Given the description of an element on the screen output the (x, y) to click on. 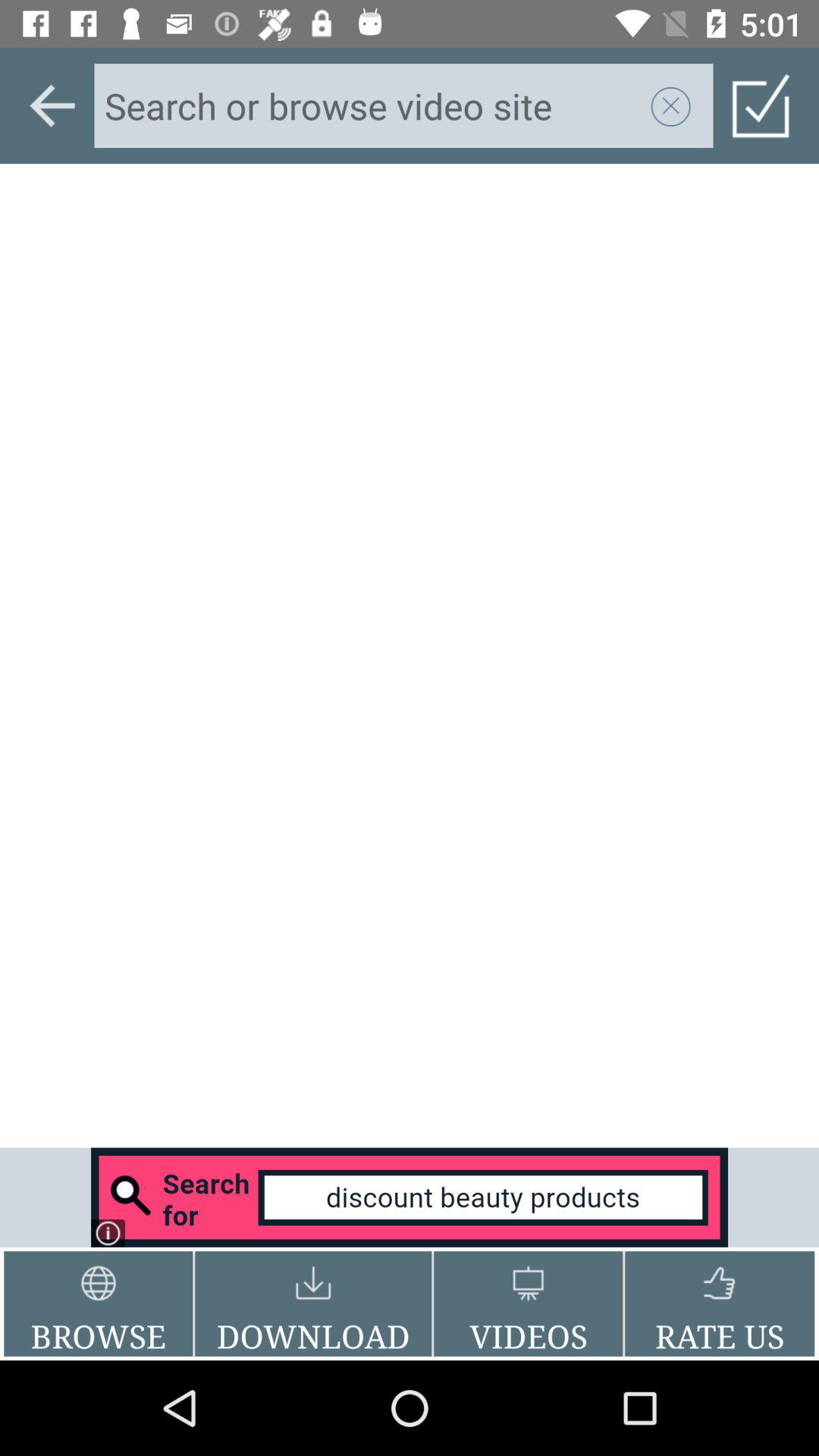
click rate us button (719, 1303)
